Given the description of an element on the screen output the (x, y) to click on. 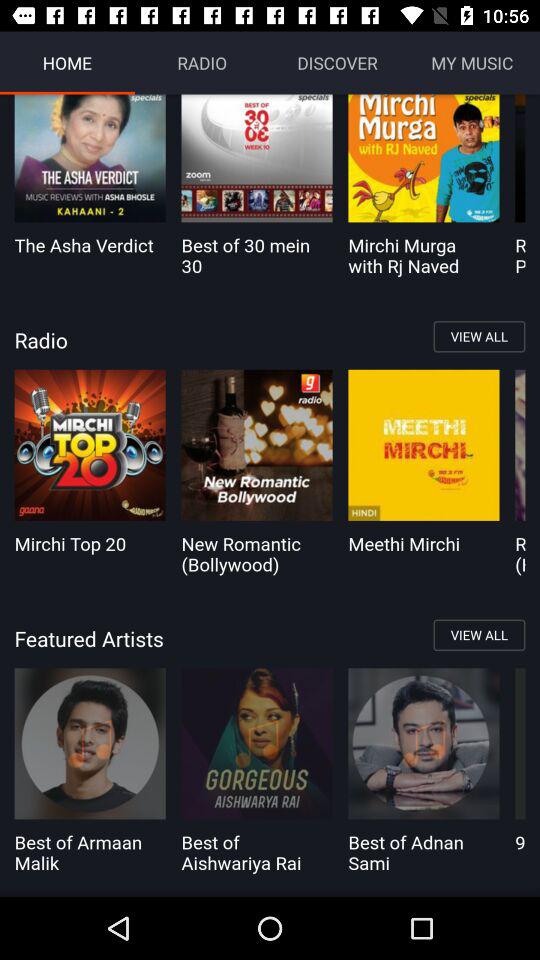
turn off the icon below mirchi top 20 (270, 638)
